Given the description of an element on the screen output the (x, y) to click on. 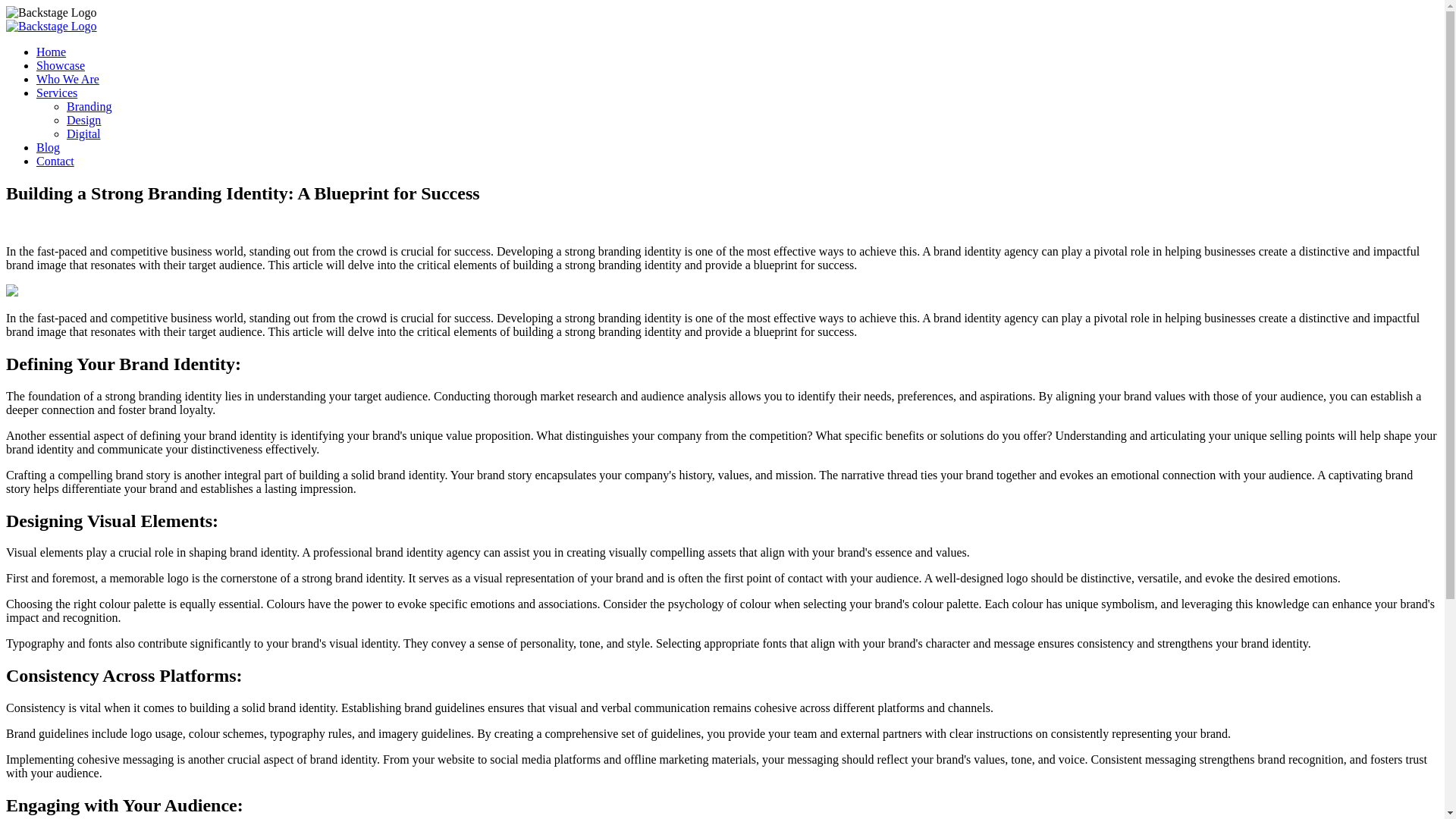
Who We Are (67, 78)
Digital (83, 133)
Blog (47, 146)
Contact (55, 160)
Showcase (60, 65)
Design (83, 119)
Home (50, 51)
Services (56, 92)
Branding (89, 106)
